Given the description of an element on the screen output the (x, y) to click on. 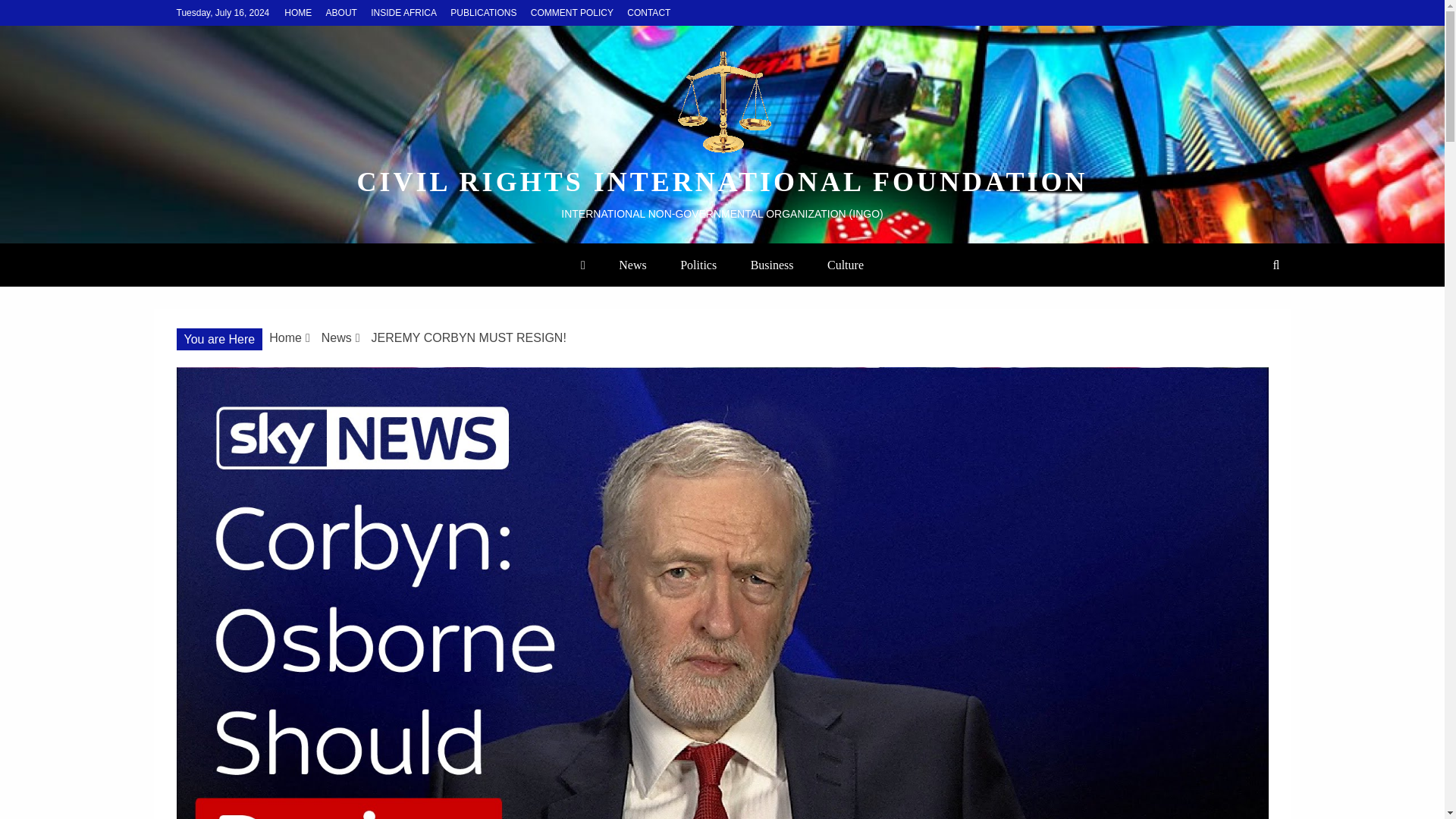
HOME (297, 12)
PUBLICATIONS (482, 12)
Culture (845, 264)
Home (285, 337)
Search (31, 13)
Politics (698, 264)
COMMENT POLICY (571, 12)
INSIDE AFRICA (403, 12)
Business (772, 264)
CIVIL RIGHTS INTERNATIONAL FOUNDATION (721, 182)
News (632, 264)
CONTACT (648, 12)
News (336, 337)
ABOUT (341, 12)
